Given the description of an element on the screen output the (x, y) to click on. 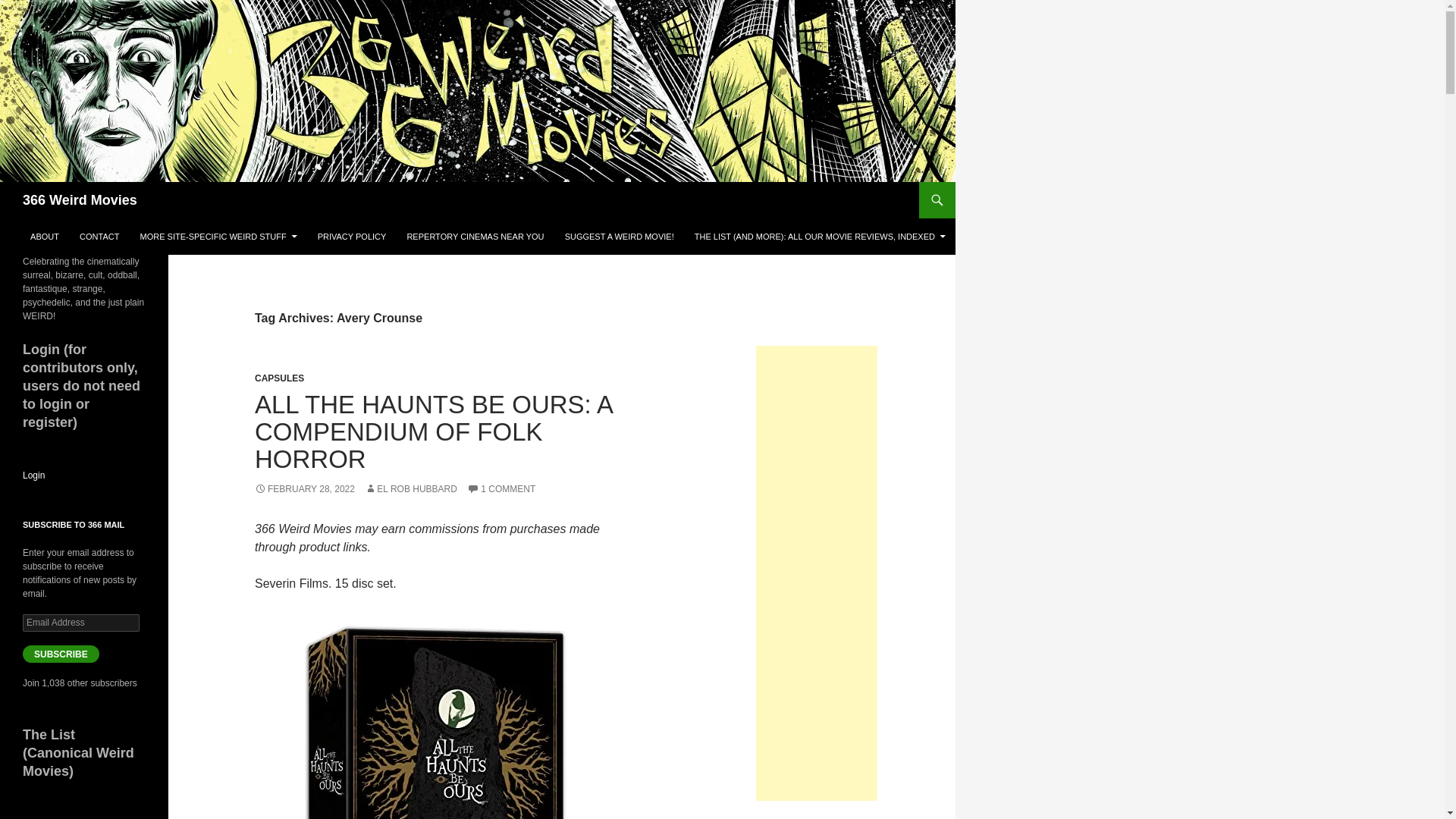
1 COMMENT (501, 489)
CAPSULES (279, 378)
366 Weird Movies (79, 199)
ALL THE HAUNTS BE OURS: A COMPENDIUM OF FOLK HORROR (432, 431)
FEBRUARY 28, 2022 (304, 489)
PRIVACY POLICY (352, 236)
CONTACT (98, 236)
ABOUT (44, 236)
EL ROB HUBBARD (411, 489)
REPERTORY CINEMAS NEAR YOU (475, 236)
SUGGEST A WEIRD MOVIE! (619, 236)
MORE SITE-SPECIFIC WEIRD STUFF (218, 236)
